Given the description of an element on the screen output the (x, y) to click on. 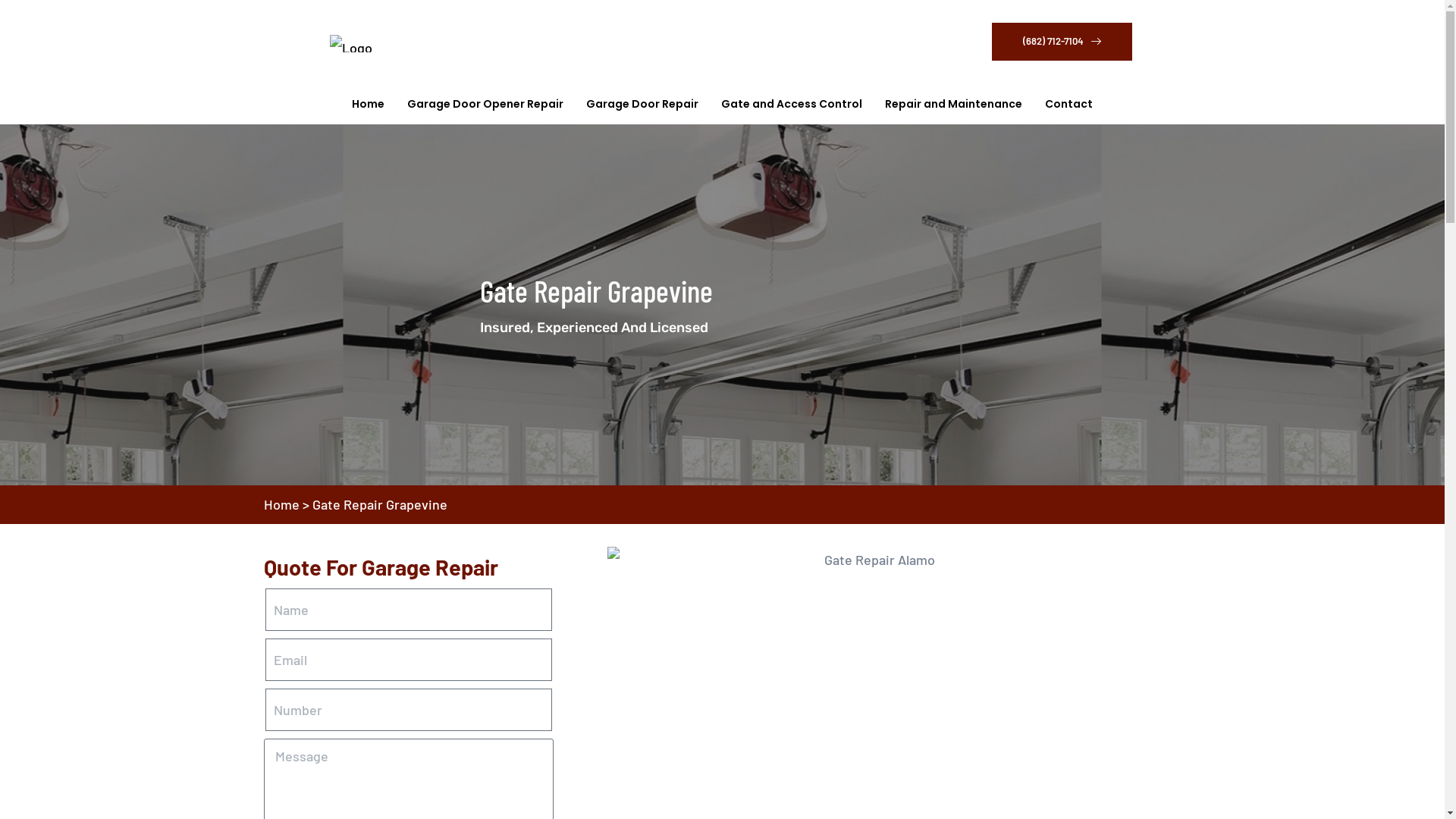
Home Element type: text (373, 103)
Contact Element type: text (1062, 103)
(682) 712-7104 Element type: text (1061, 41)
Garage Door Repair Element type: text (641, 103)
Repair and Maintenance Element type: text (953, 103)
Gate and Access Control Element type: text (791, 103)
Garage Door Opener Repair Element type: text (484, 103)
